Given the description of an element on the screen output the (x, y) to click on. 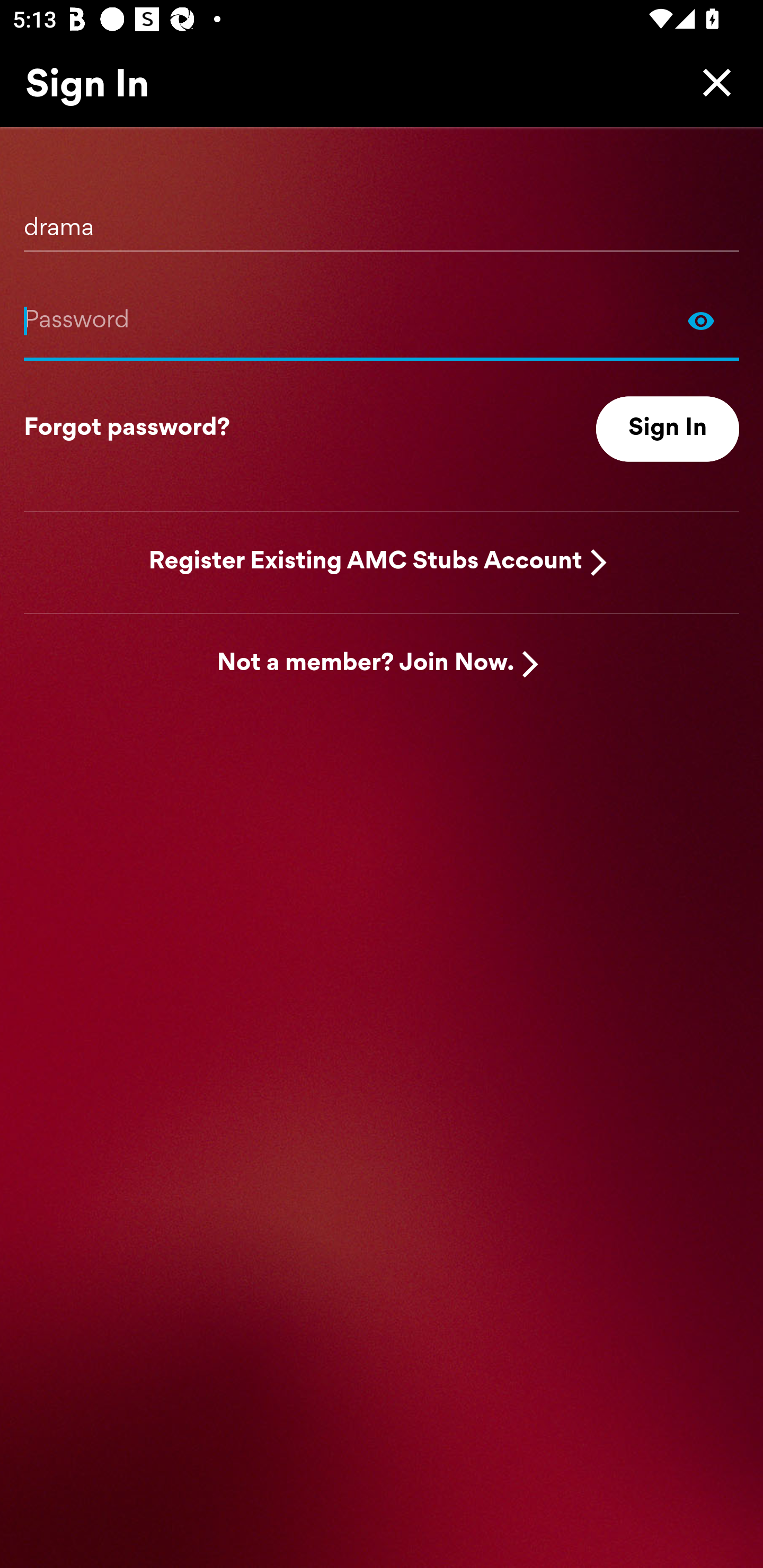
Close (712, 82)
drama (381, 220)
Show Password (381, 320)
Show Password (701, 320)
Forgot password? (126, 428)
Sign In (667, 428)
Register Existing AMC Stubs Account (365, 561)
Not a member? Join Now. (365, 663)
